Given the description of an element on the screen output the (x, y) to click on. 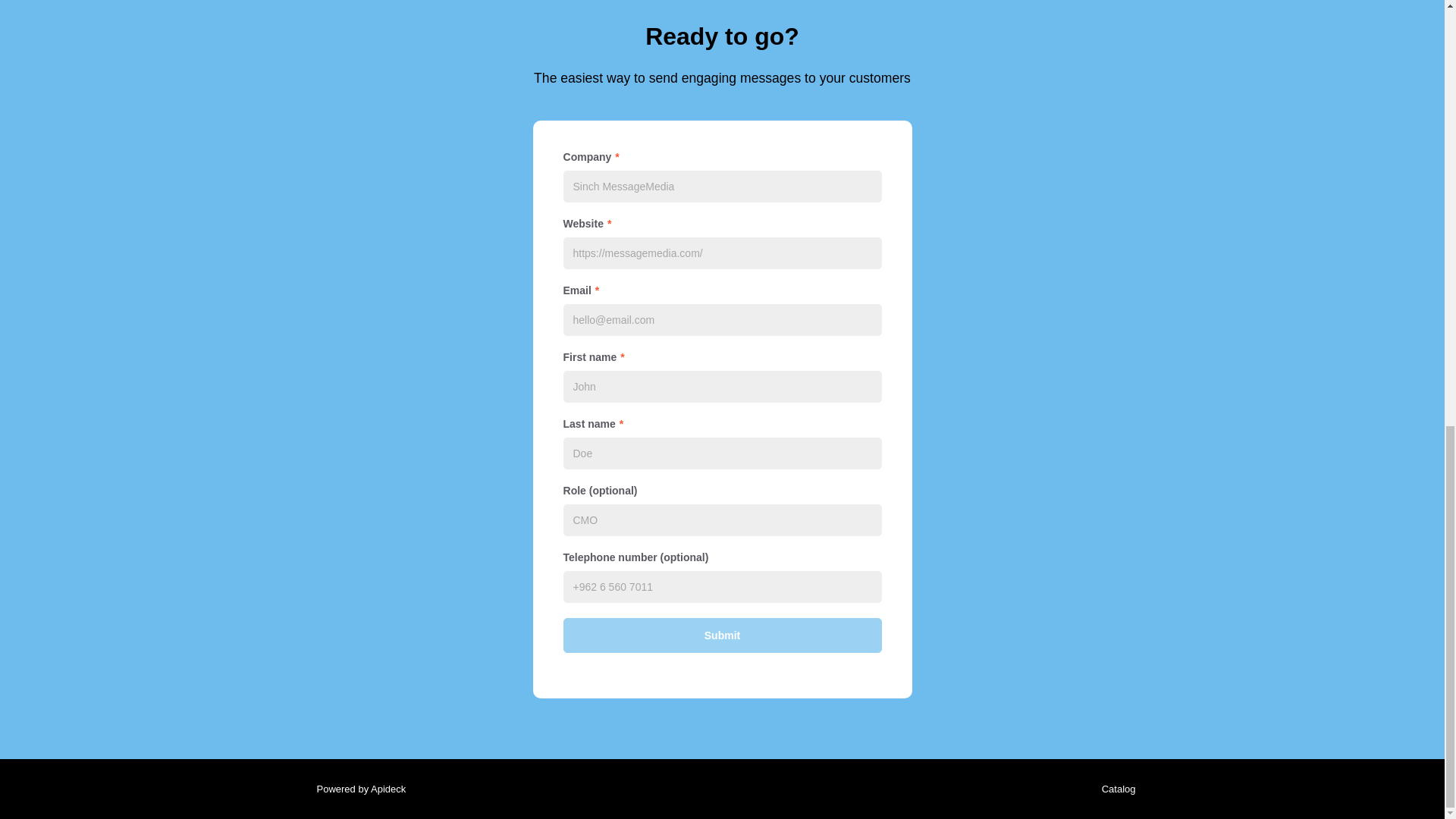
Catalog (1115, 789)
Powered by Apideck (356, 789)
Submit (721, 635)
